Given the description of an element on the screen output the (x, y) to click on. 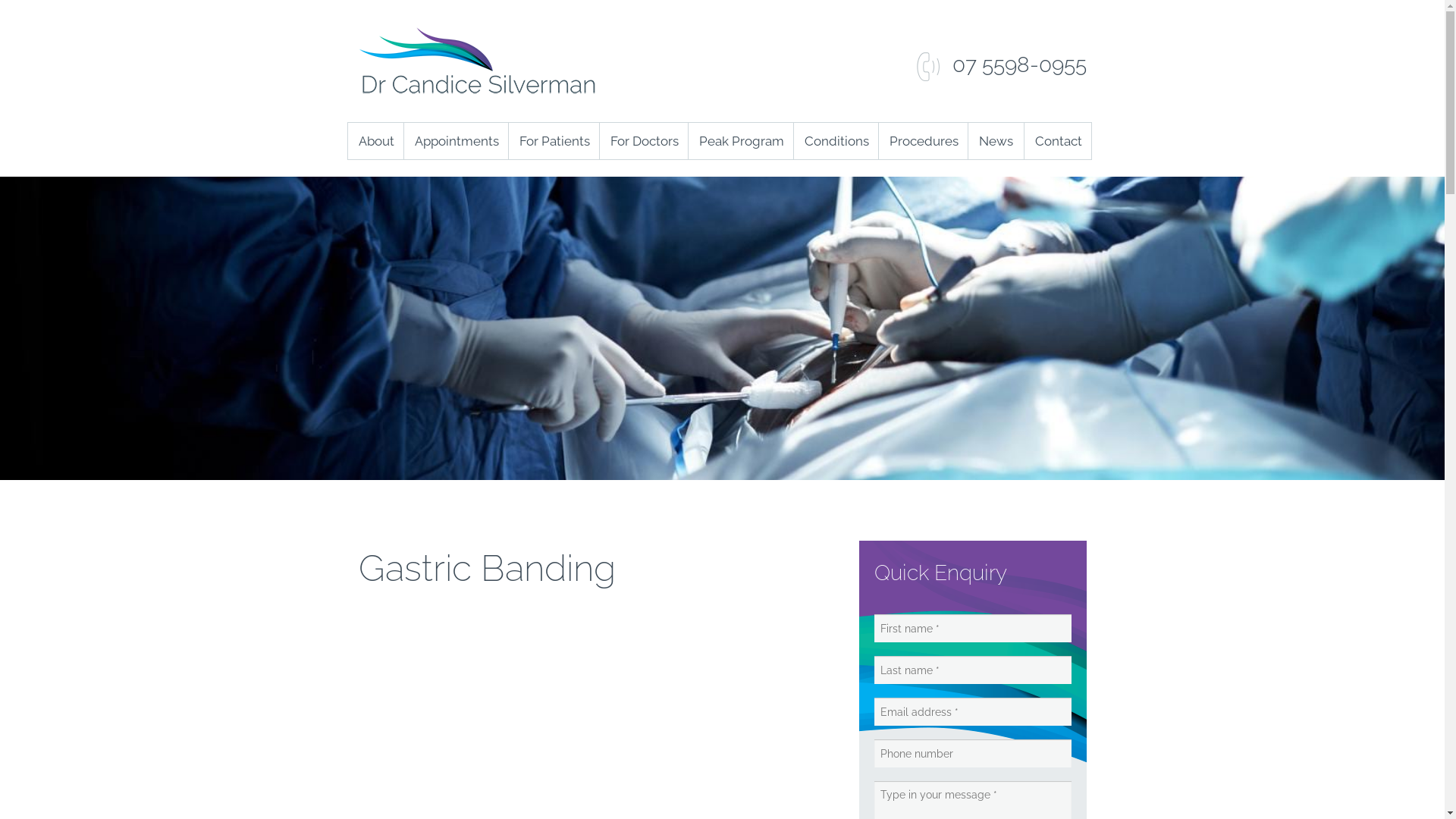
Doctor Contact Element type: text (696, 178)
Glossary of Terms Element type: text (605, 469)
About Peak Element type: text (785, 178)
Procedures Element type: text (922, 141)
Skip to main content Element type: text (66, 0)
Weight Loss Surgery Element type: text (975, 287)
An Introduction to Obesity and Weight Loss Operations Element type: text (785, 214)
Contact Us Element type: text (993, 178)
Appointments Element type: text (455, 141)
Weight Loss Surgery Fact Sheets Element type: text (605, 360)
Ventral Hernia Element type: text (890, 542)
Body Mass Index (BMI) Element type: text (890, 214)
Peak FAQ Element type: text (785, 323)
Your Visit Element type: text (500, 250)
Obesity Element type: text (890, 396)
Inguinal Hernia Element type: text (890, 323)
Parastomal Hernia Element type: text (890, 469)
Our Practice Element type: text (444, 178)
COVID-19 Advisory Element type: text (605, 178)
Laparoscopic Surgery Element type: text (975, 214)
07 5598-0955 Element type: text (999, 64)
Robotic Weight Loss Surgery Element type: text (975, 250)
Clinical Information Element type: text (696, 250)
Locations Element type: text (993, 214)
Pancreatic Cancer Element type: text (890, 432)
Diet and Nutritional Support Element type: text (785, 250)
Umbilical hernia Element type: text (890, 505)
Appointment Times Element type: text (500, 178)
Our Team Element type: text (444, 214)
About Element type: text (375, 141)
For Doctors Element type: text (643, 141)
Conditions Element type: text (835, 141)
Hospital Admissions Element type: text (605, 287)
Videos Element type: text (605, 432)
Our Hospitals Element type: text (605, 250)
Appointment Request Element type: text (500, 360)
Femoral Hernia Element type: text (890, 250)
Medical History Element type: text (500, 396)
General Surgery Fact Sheets Element type: text (605, 396)
Psychological Support Element type: text (785, 287)
Operating Times Element type: text (500, 214)
Fees and Payment Element type: text (500, 287)
General Surgery Element type: text (975, 323)
For Patients Element type: text (553, 141)
Acid Reflux Element type: text (890, 178)
News Element type: text (995, 141)
Liver Cancer Element type: text (890, 360)
Contact Element type: text (1057, 141)
General Information about your Operation Element type: text (605, 214)
Patient Referral Element type: text (696, 214)
New Patient Registration Element type: text (500, 323)
Resources Element type: text (605, 505)
Peak Program Element type: text (739, 141)
Hernia Surgery Element type: text (975, 178)
Documents Element type: text (605, 323)
Frequently Asked Questions Element type: text (500, 432)
Gallstones Element type: text (890, 287)
